Given the description of an element on the screen output the (x, y) to click on. 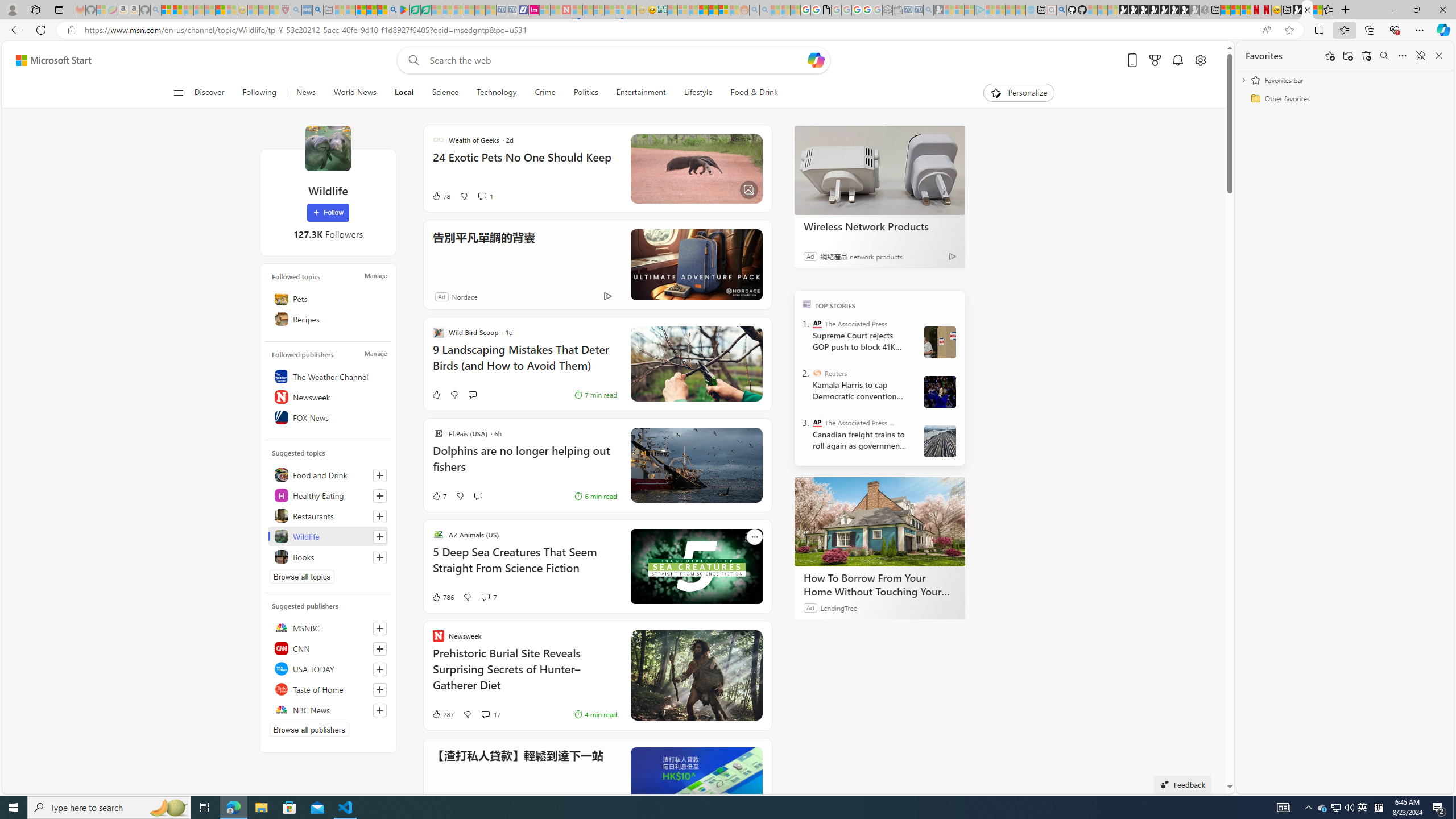
Search favorites (1383, 55)
Terms of Use Agreement (414, 9)
Like (435, 395)
Image Credit: Depositphotos. (696, 364)
